Given the description of an element on the screen output the (x, y) to click on. 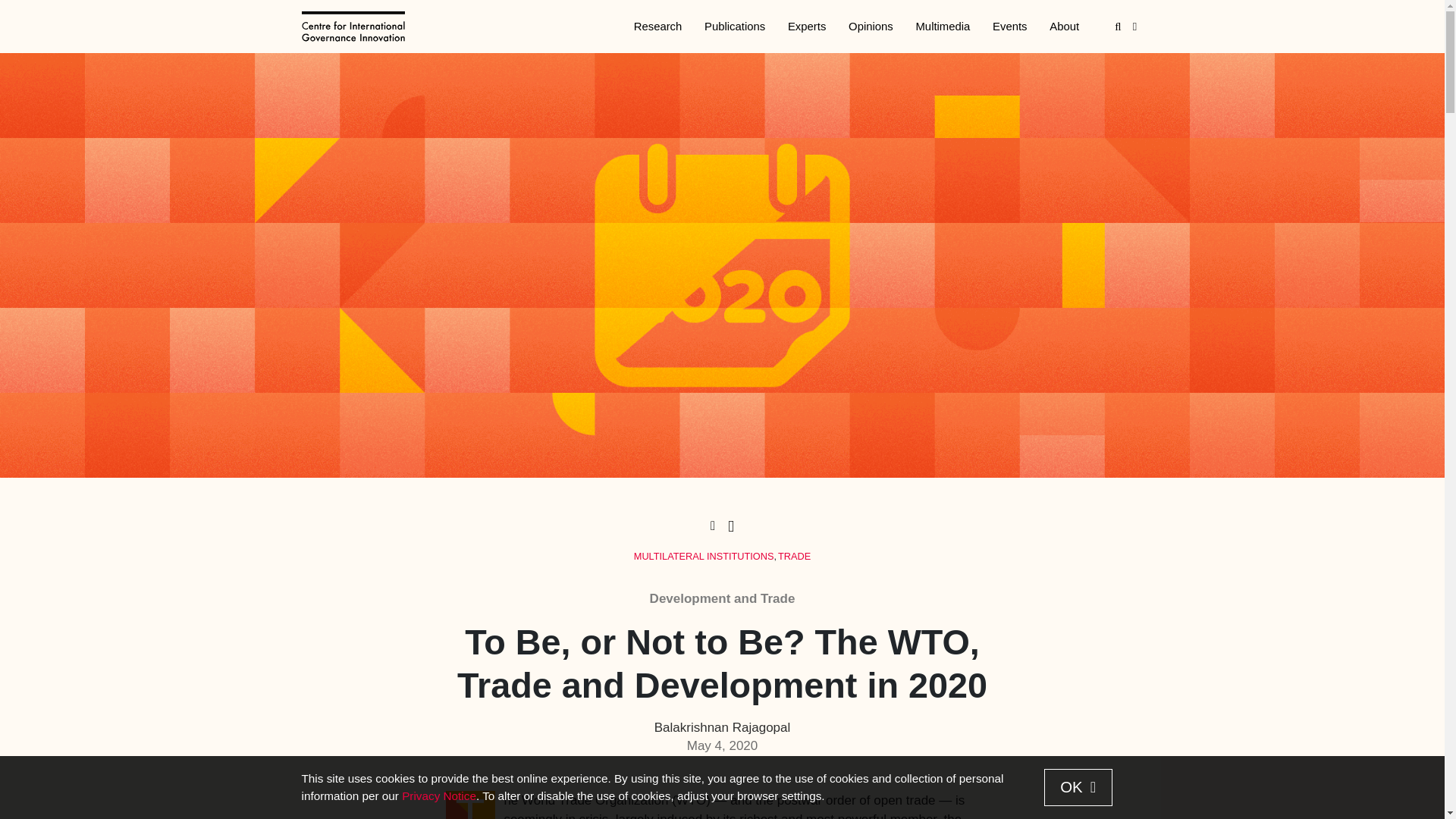
About (1064, 27)
Multimedia (942, 27)
Events (1009, 27)
Research (658, 27)
Experts (806, 27)
Opinions (870, 27)
Publications (734, 27)
